Given the description of an element on the screen output the (x, y) to click on. 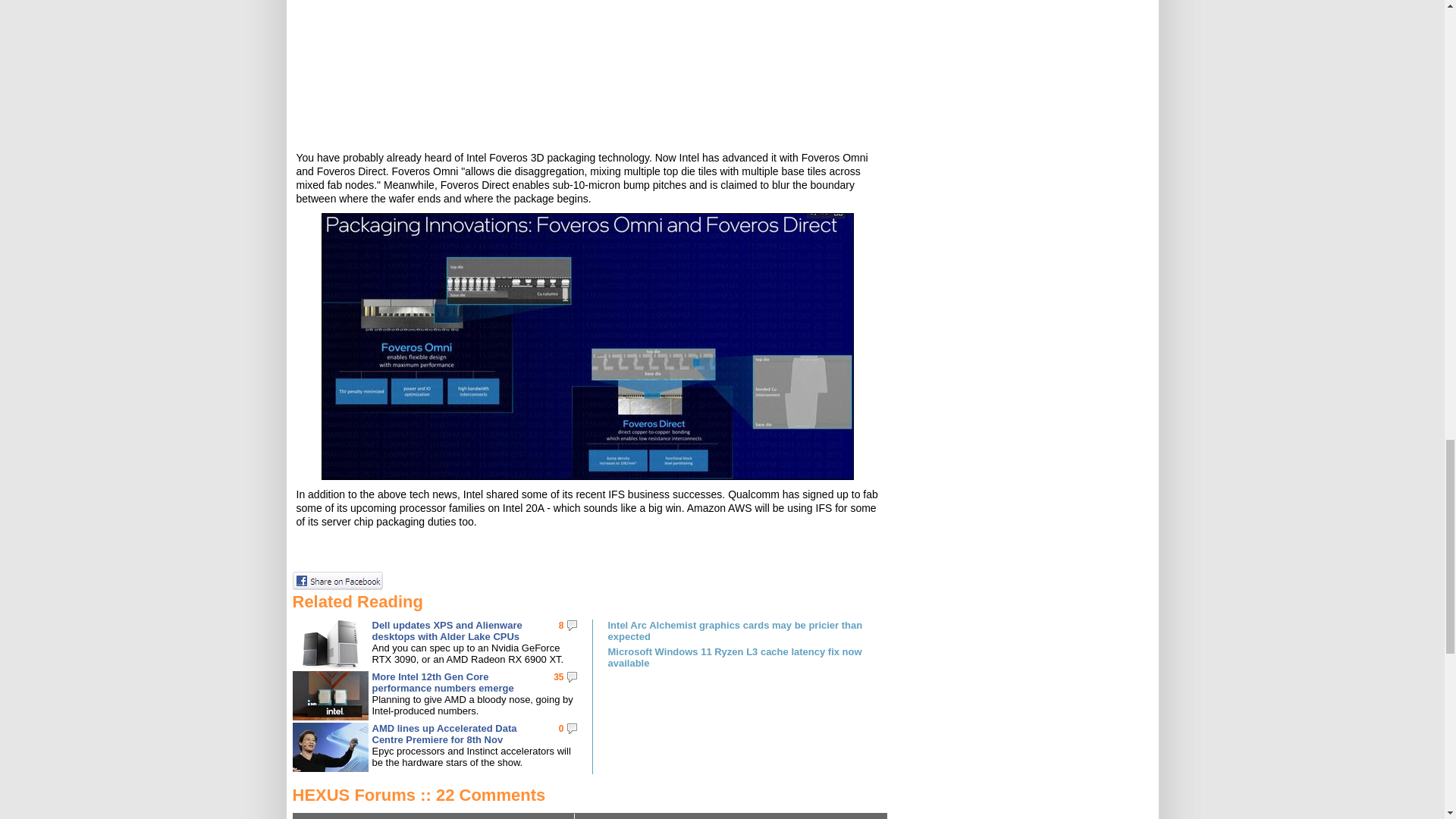
Dell updates XPS and Alienware desktops with Alder Lake CPUs (446, 630)
More Intel 12th Gen Core performance numbers emerge (442, 681)
35 (558, 676)
8 (561, 625)
YouTube video player (587, 70)
